Given the description of an element on the screen output the (x, y) to click on. 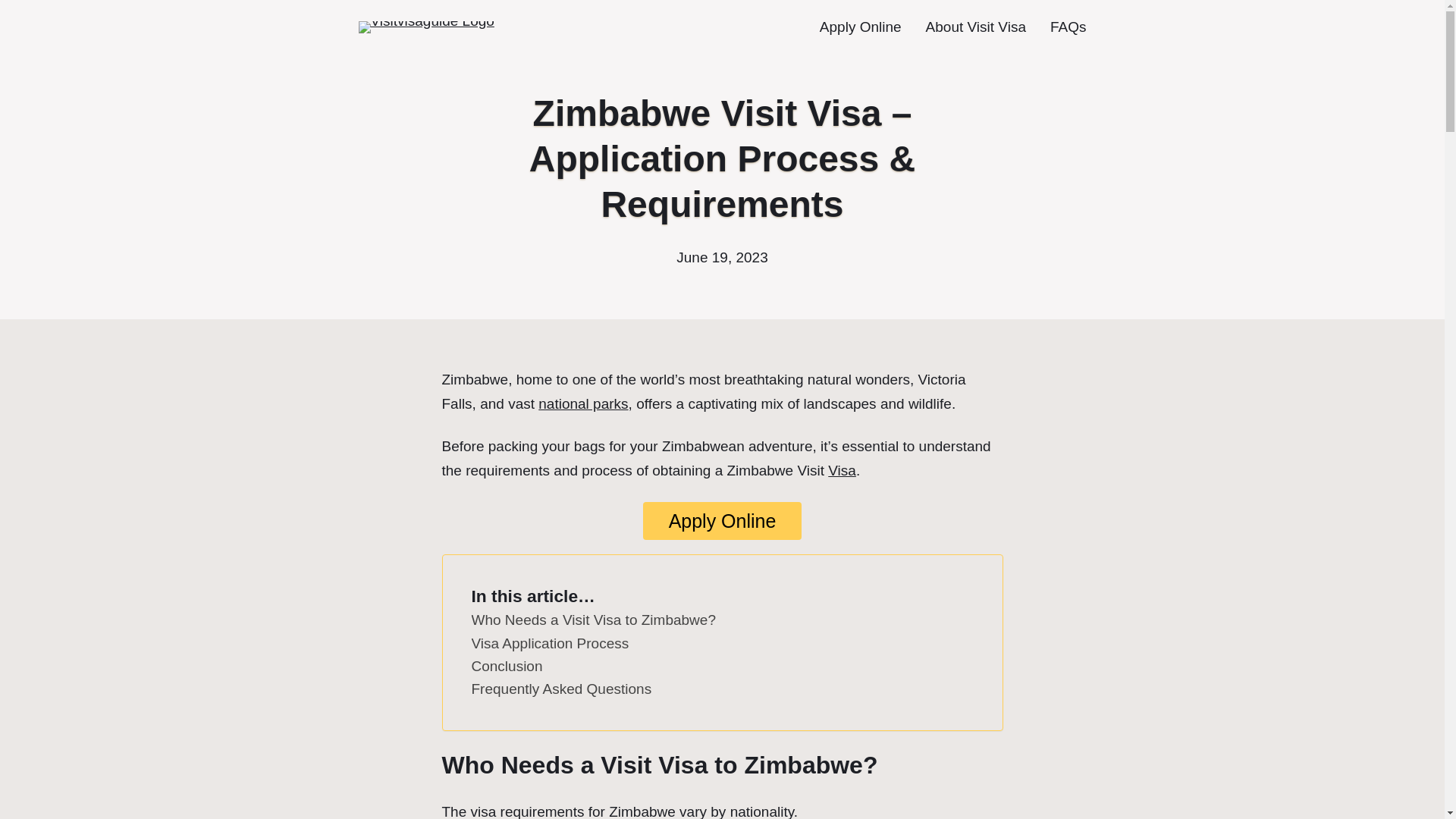
Conclusion (507, 666)
Visa (842, 470)
national parks (582, 403)
Who Needs a Visit Visa to Zimbabwe? (593, 620)
Who Needs a Visit Visa to Zimbabwe? (593, 620)
Visa Application Process (549, 643)
Apply Online (860, 27)
Visa Application Process (549, 643)
About Visit Visa (976, 27)
Apply Visa Online (722, 520)
